Given the description of an element on the screen output the (x, y) to click on. 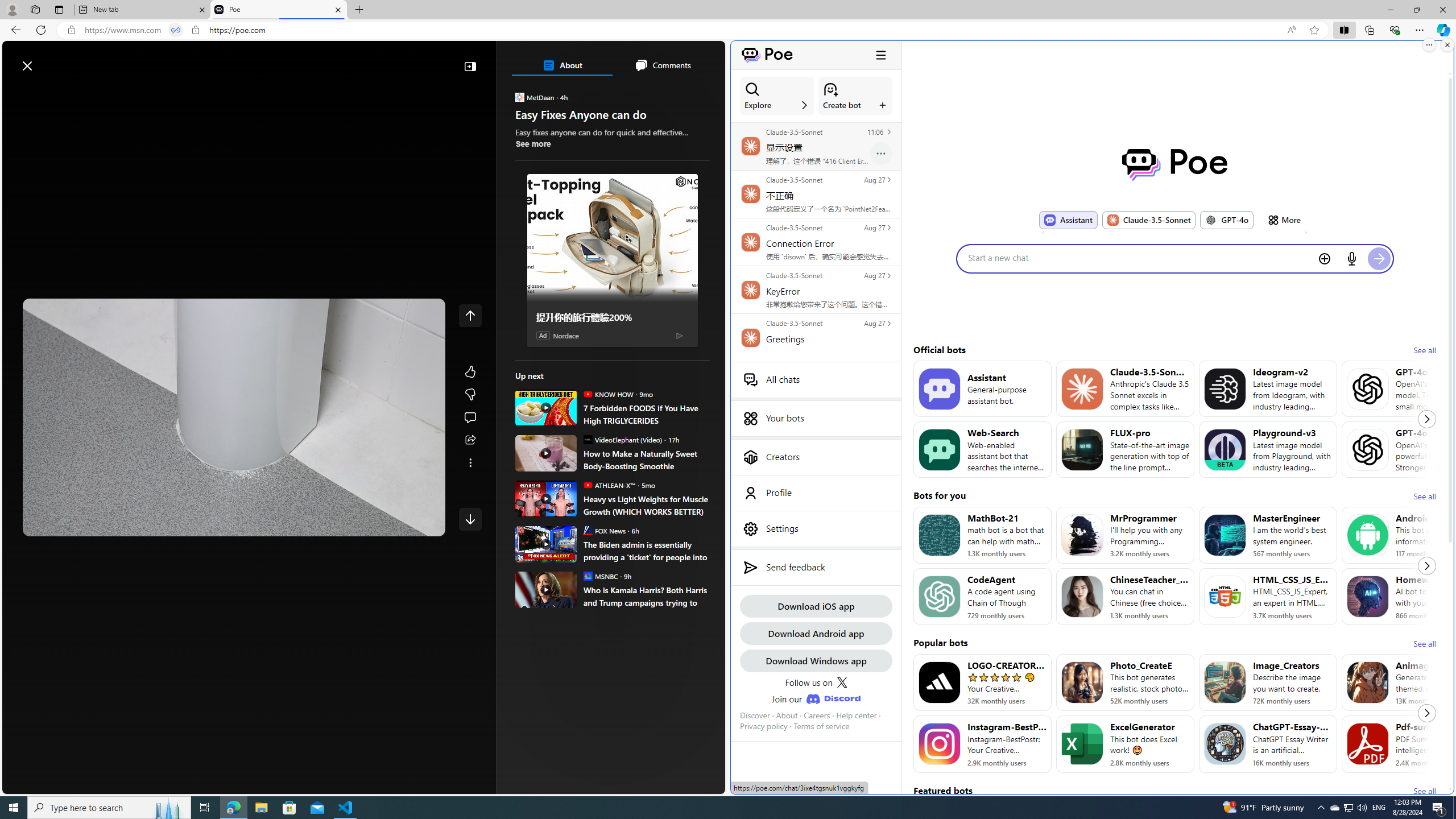
How to Make a Naturally Sweet Body-Boosting Smoothie (545, 452)
Bot image for Web-Search (938, 449)
More like thisFewer like thisStart the conversation (469, 394)
Poe (1174, 164)
